Given the description of an element on the screen output the (x, y) to click on. 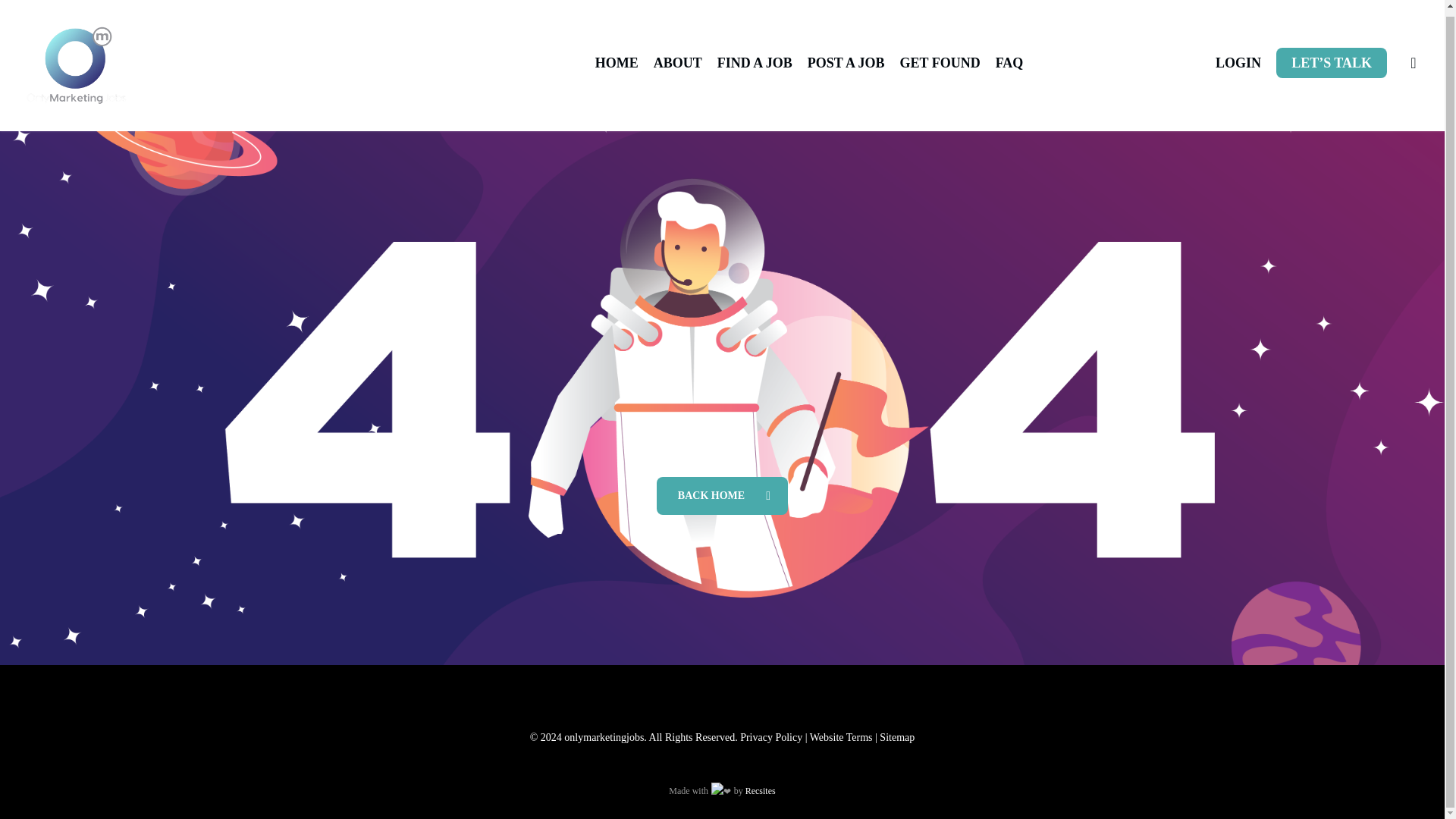
Privacy Policy (770, 737)
POST A JOB (846, 63)
GET FOUND (939, 63)
Website Terms (840, 737)
BACK HOME (721, 495)
Sitemap (896, 737)
FAQ (1009, 63)
FIND A JOB (754, 63)
HOME (617, 63)
LOGIN (1237, 63)
